Given the description of an element on the screen output the (x, y) to click on. 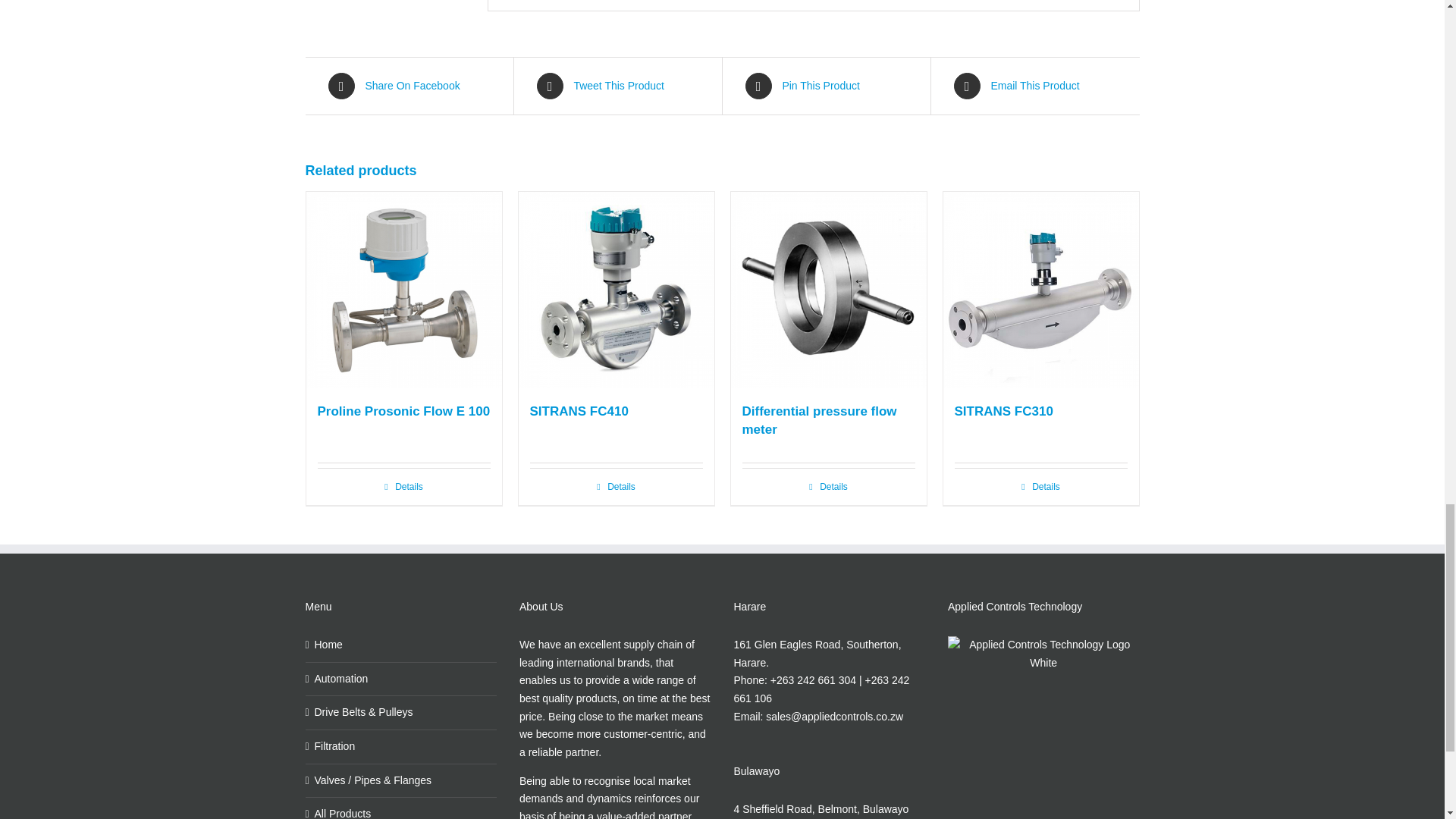
Email This Product (1034, 85)
Share On Facebook (408, 85)
SITRANS FC410 (578, 411)
Details (615, 486)
Details (403, 486)
Differential pressure flow meter (818, 420)
Proline Prosonic Flow E 100 (403, 411)
Tweet This Product (617, 85)
Pin This Product (825, 85)
Details (827, 486)
